Given the description of an element on the screen output the (x, y) to click on. 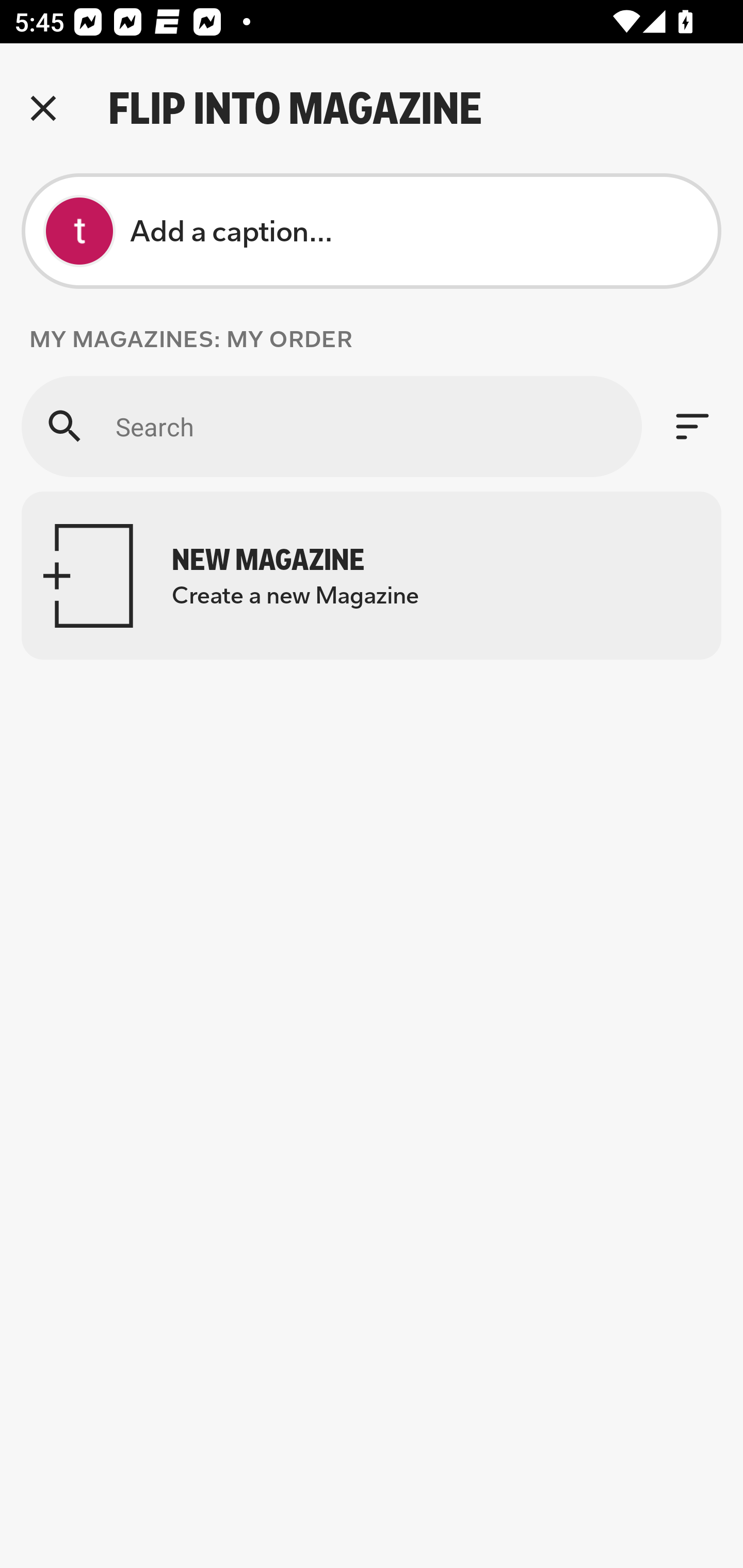
test appium Add a caption… (371, 231)
Search (331, 426)
NEW MAGAZINE Create a new Magazine (371, 575)
